Given the description of an element on the screen output the (x, y) to click on. 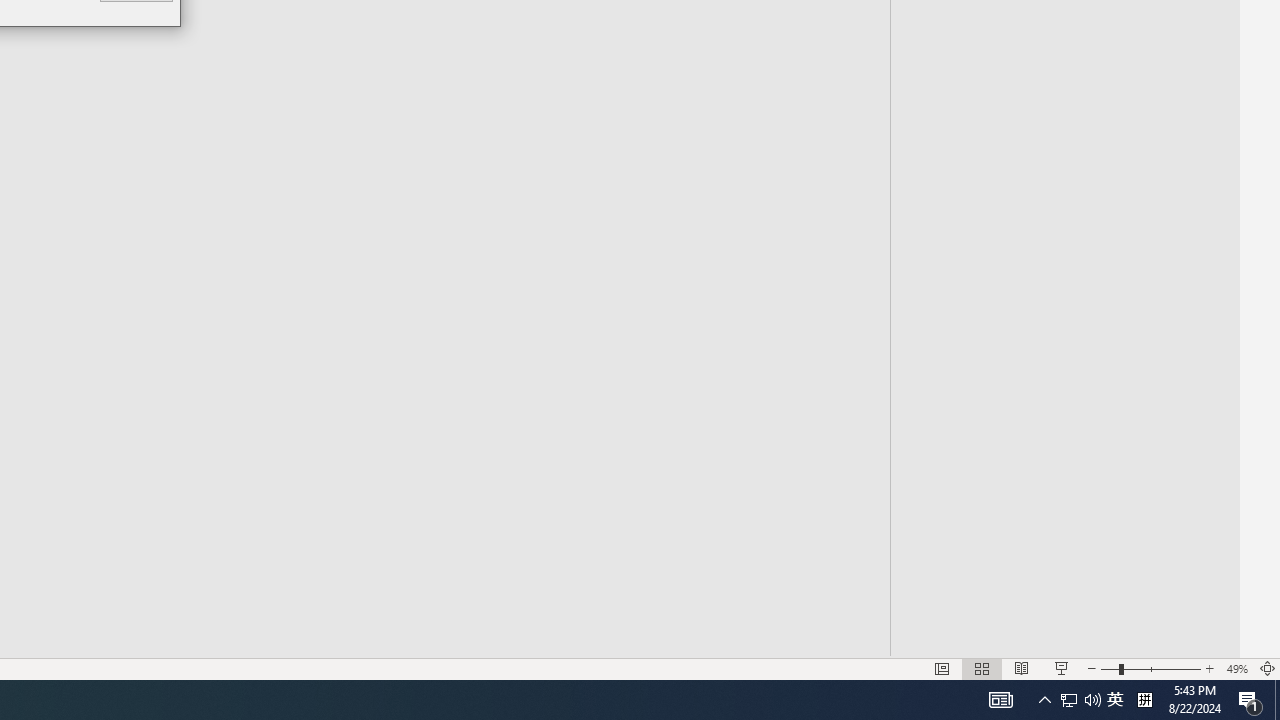
Zoom 49% (1236, 668)
